Given the description of an element on the screen output the (x, y) to click on. 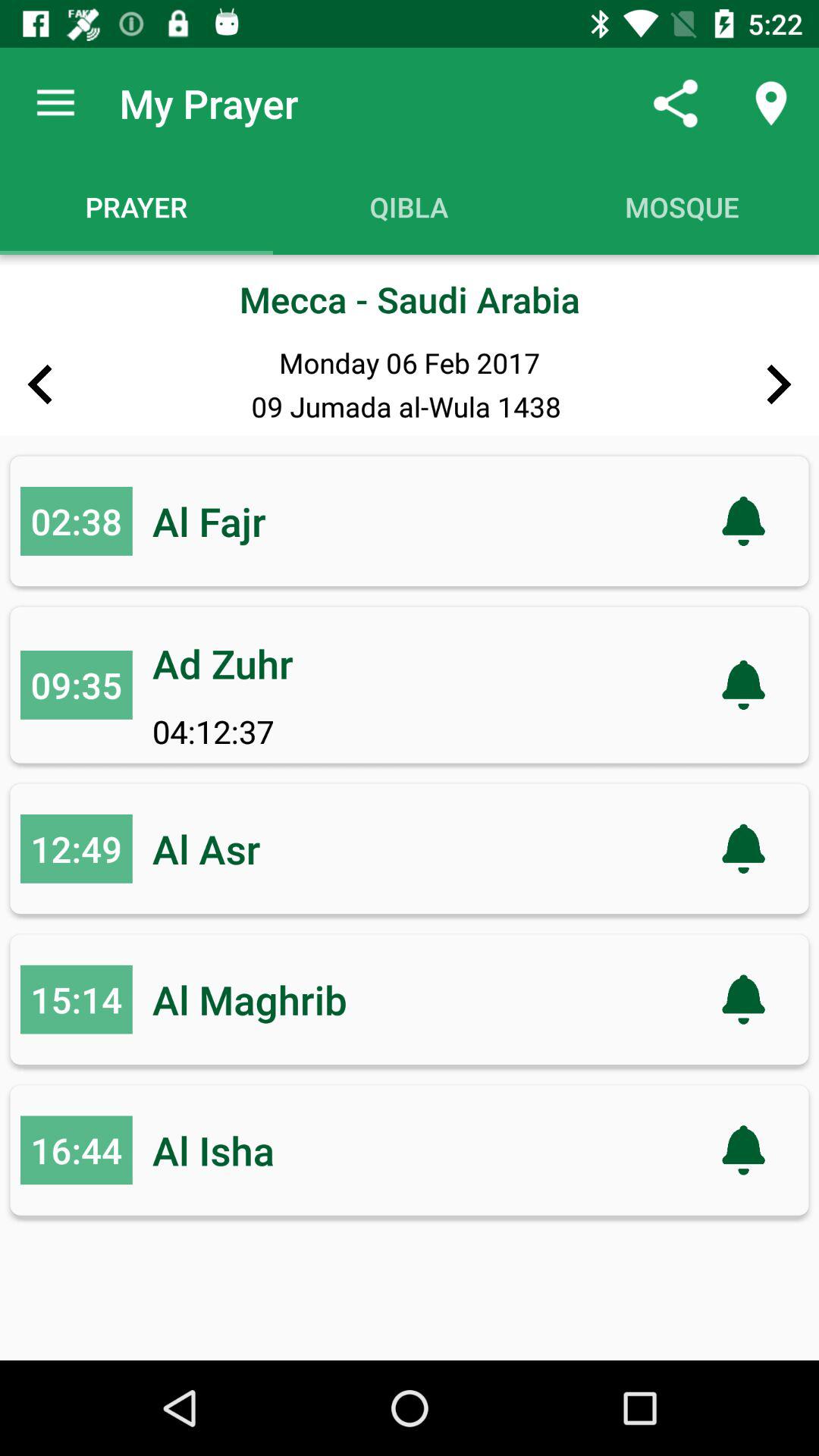
open the icon above prayer icon (55, 103)
